Given the description of an element on the screen output the (x, y) to click on. 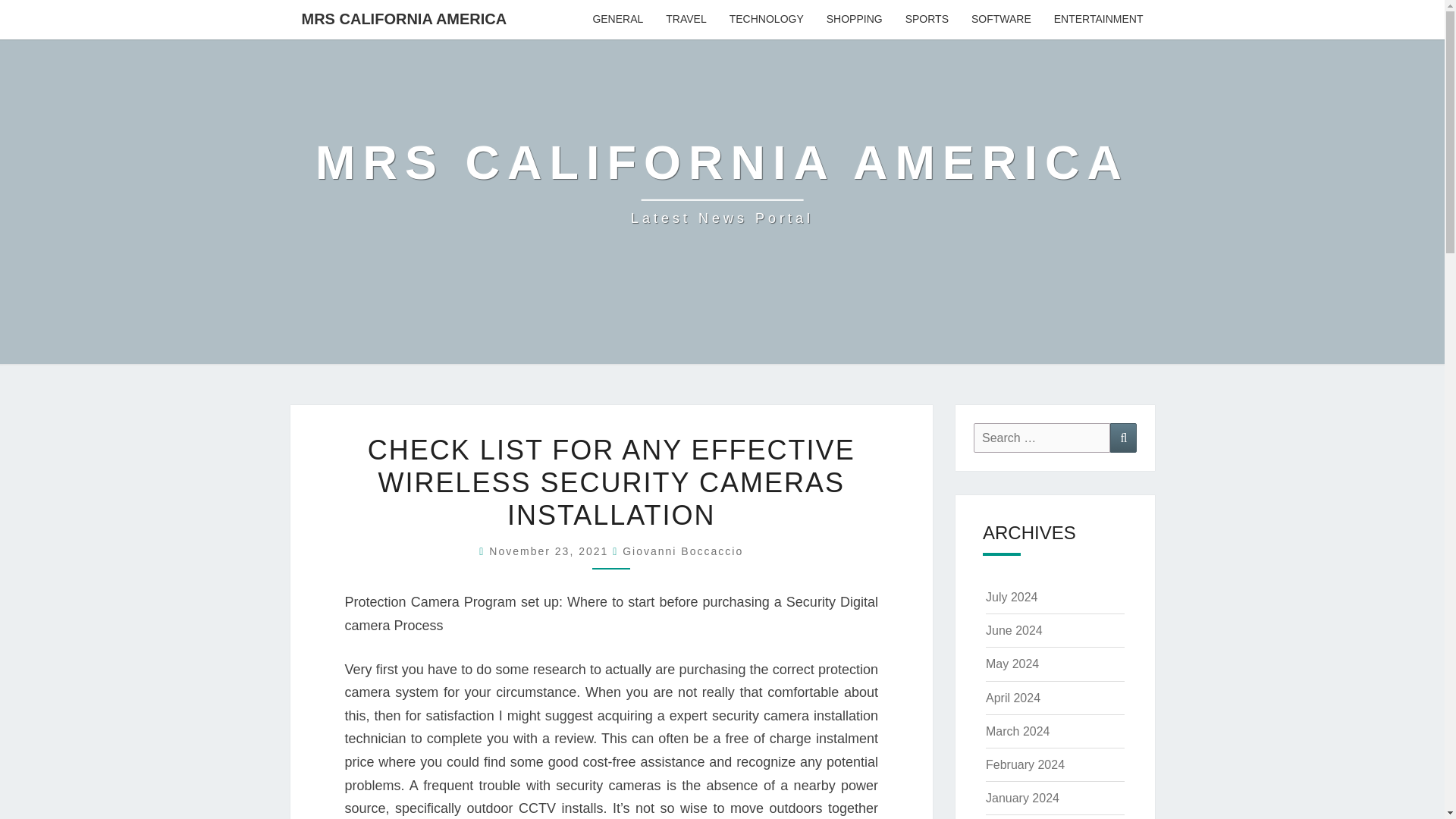
SHOPPING (854, 19)
GENERAL (616, 19)
ENTERTAINMENT (722, 182)
April 2024 (1098, 19)
February 2024 (1013, 697)
TRAVEL (1024, 764)
TECHNOLOGY (685, 19)
March 2024 (766, 19)
May 2024 (1017, 730)
June 2024 (1012, 663)
1:19 pm (1013, 630)
Mrs California America (550, 551)
Search (722, 182)
SPORTS (1123, 437)
